Given the description of an element on the screen output the (x, y) to click on. 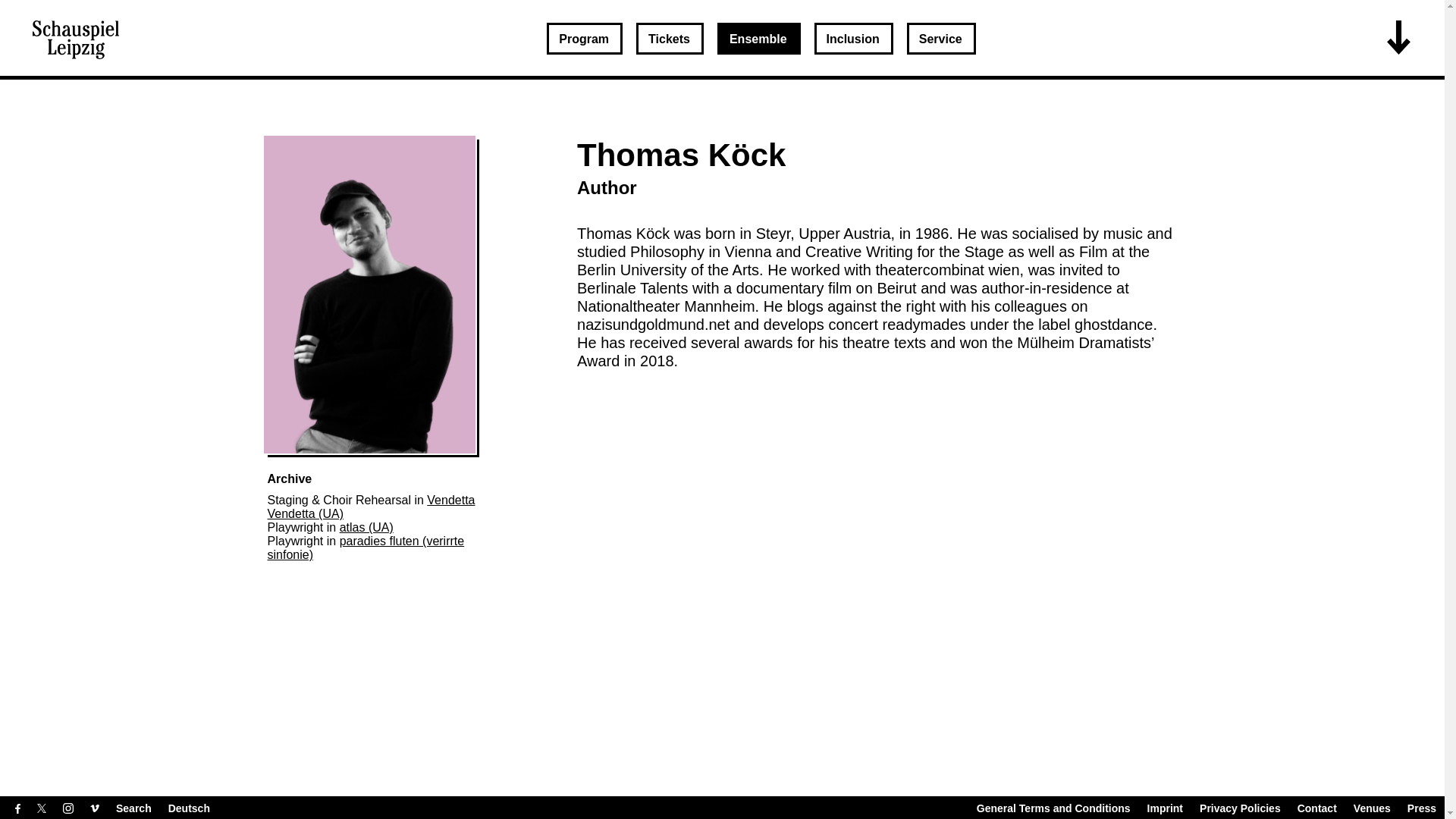
Ensemble (758, 38)
Program (585, 38)
Tickets (669, 38)
Service (941, 38)
Inclusion (853, 38)
